Given the description of an element on the screen output the (x, y) to click on. 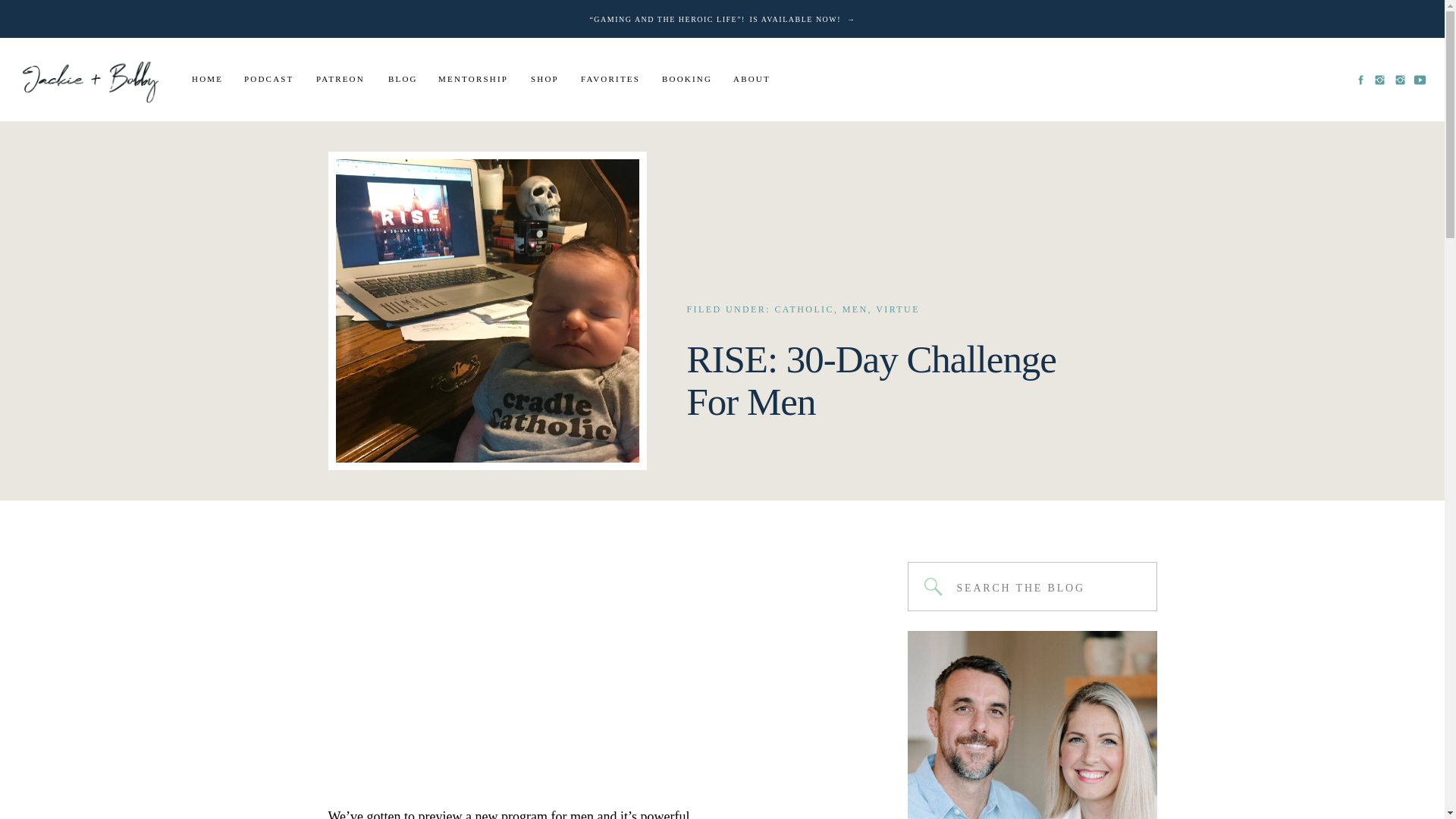
CATHOLIC (804, 308)
BLOG (404, 79)
PODCAST (271, 79)
BOOKING (689, 79)
PATREON (343, 79)
MEN (855, 308)
HOME (209, 79)
MENTORSHIP (475, 79)
SHOP (547, 79)
FAVORITES (612, 79)
ABOUT (753, 79)
VIRTUE (898, 308)
